Given the description of an element on the screen output the (x, y) to click on. 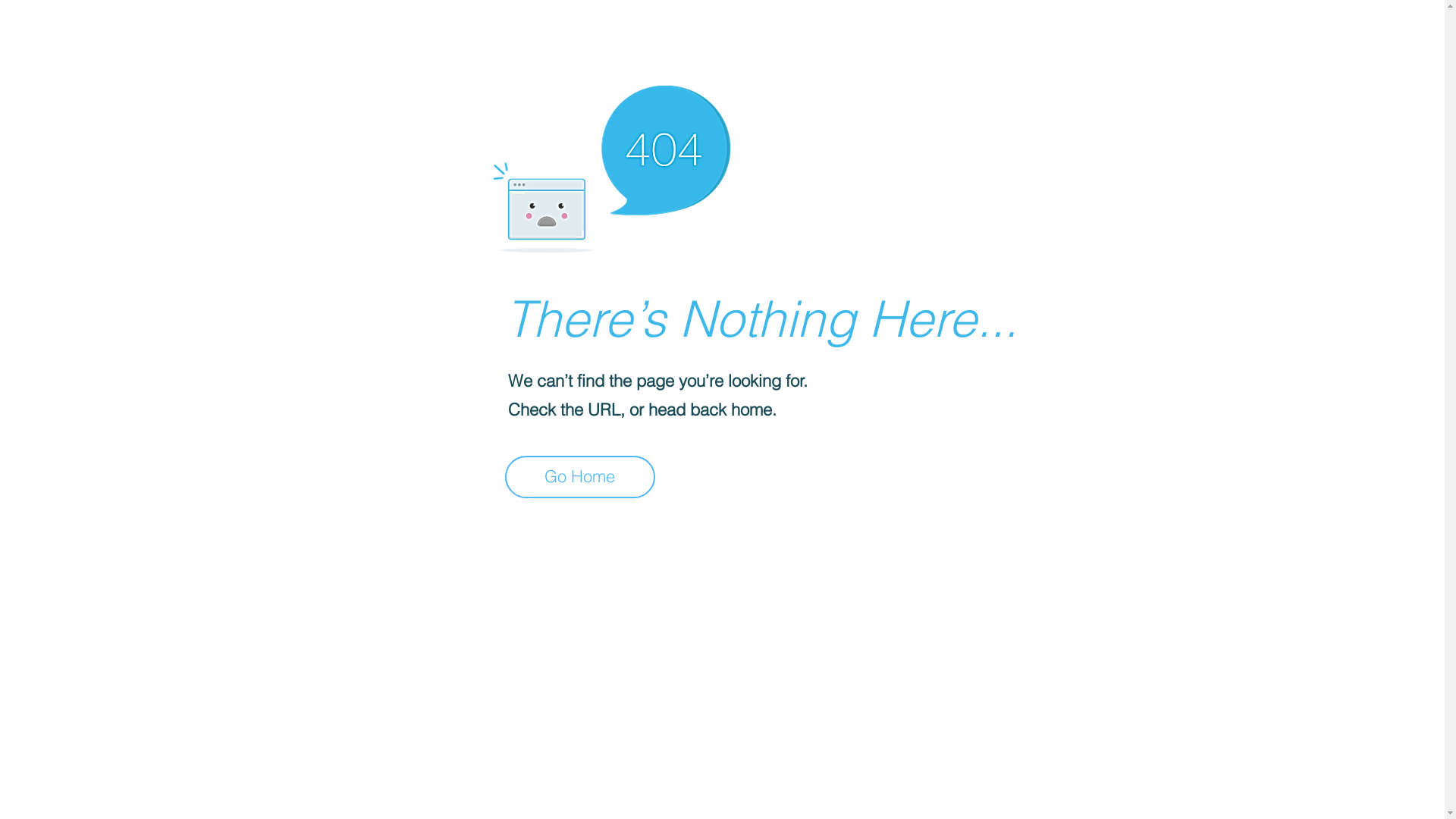
404-icon_2.png Element type: hover (610, 164)
Go Home Element type: text (580, 476)
